Given the description of an element on the screen output the (x, y) to click on. 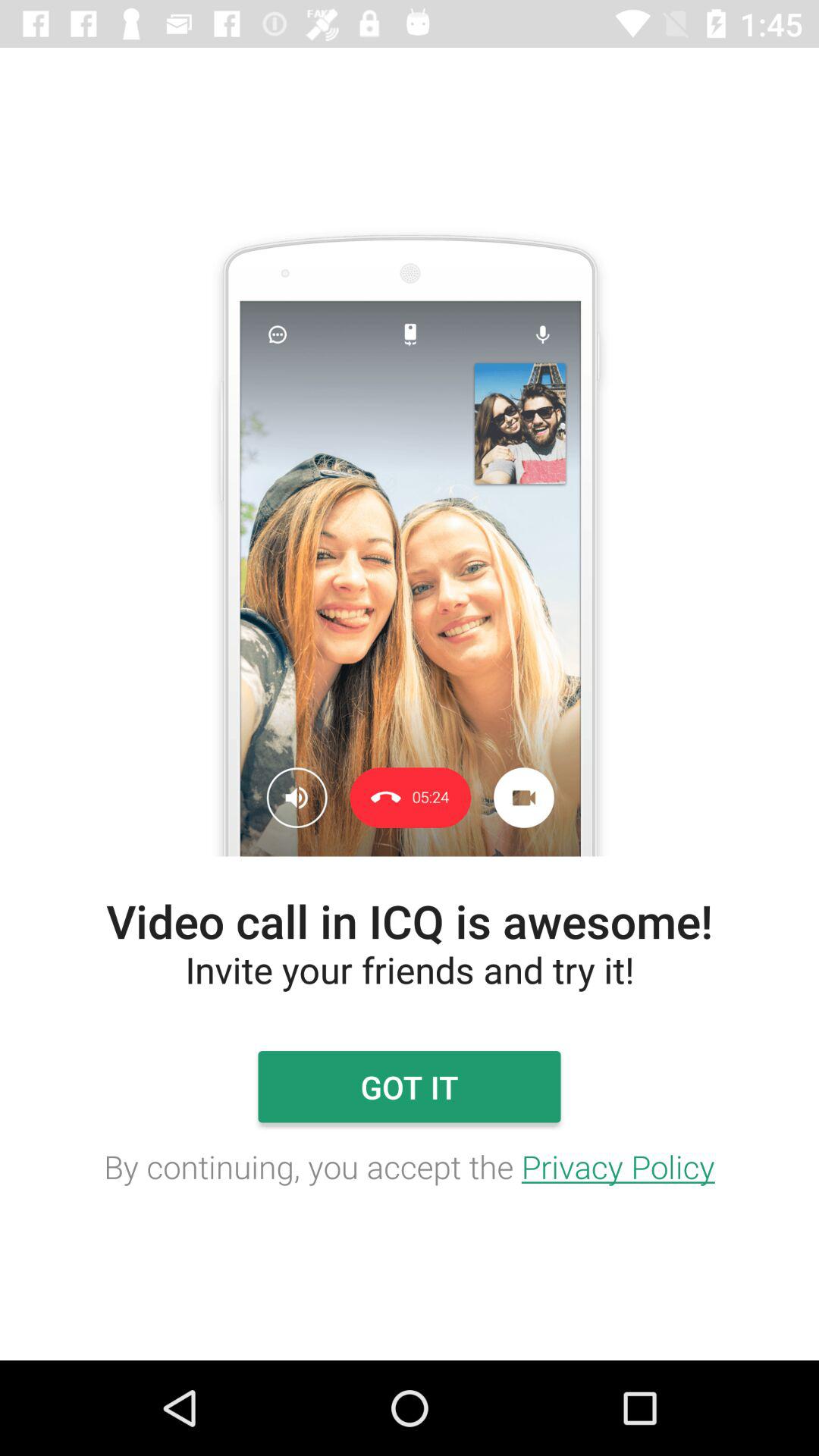
turn on the by continuing you icon (409, 1166)
